Given the description of an element on the screen output the (x, y) to click on. 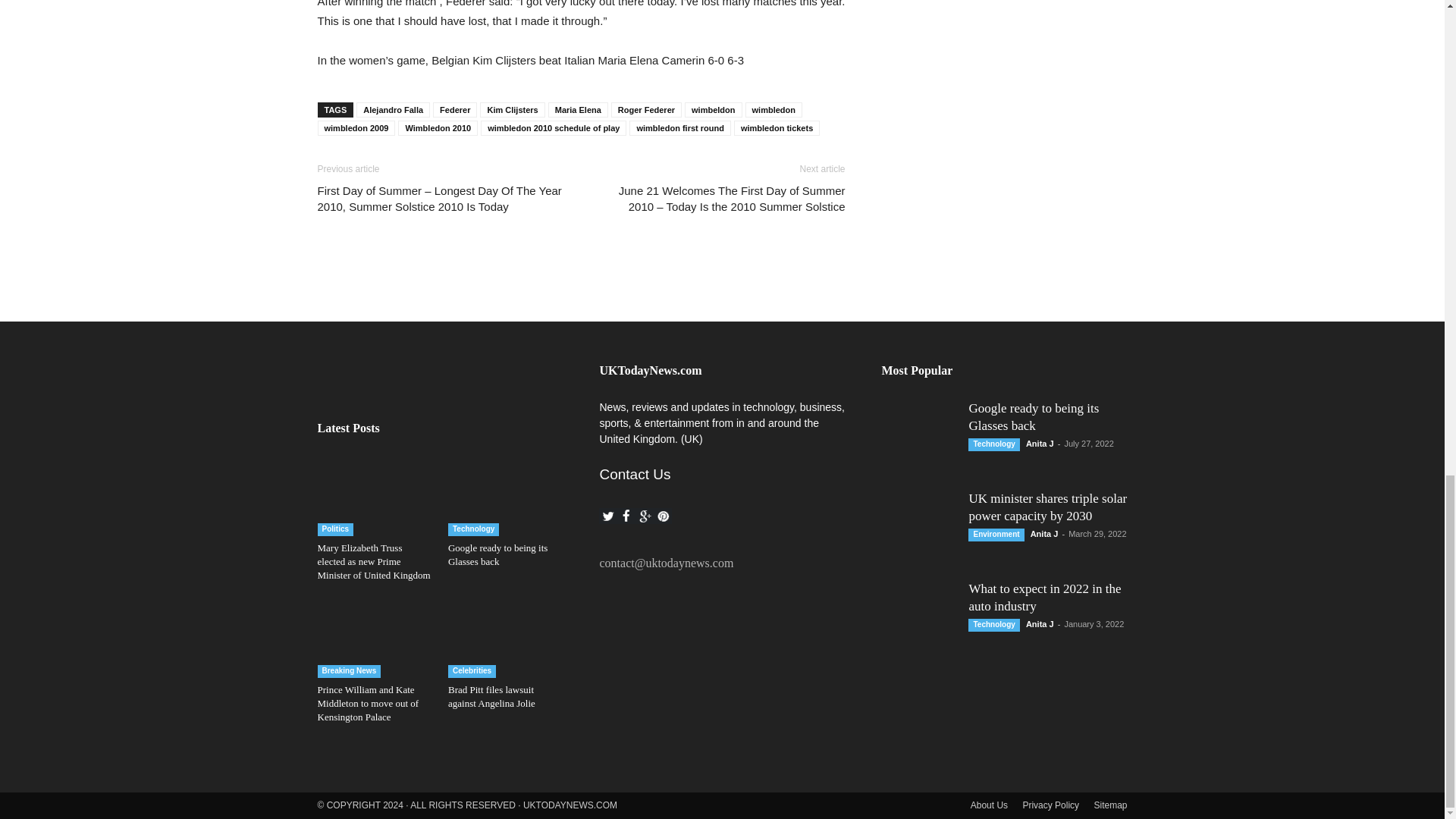
Google ready to being its Glasses back (497, 554)
Google ready to being its Glasses back (505, 496)
